Given the description of an element on the screen output the (x, y) to click on. 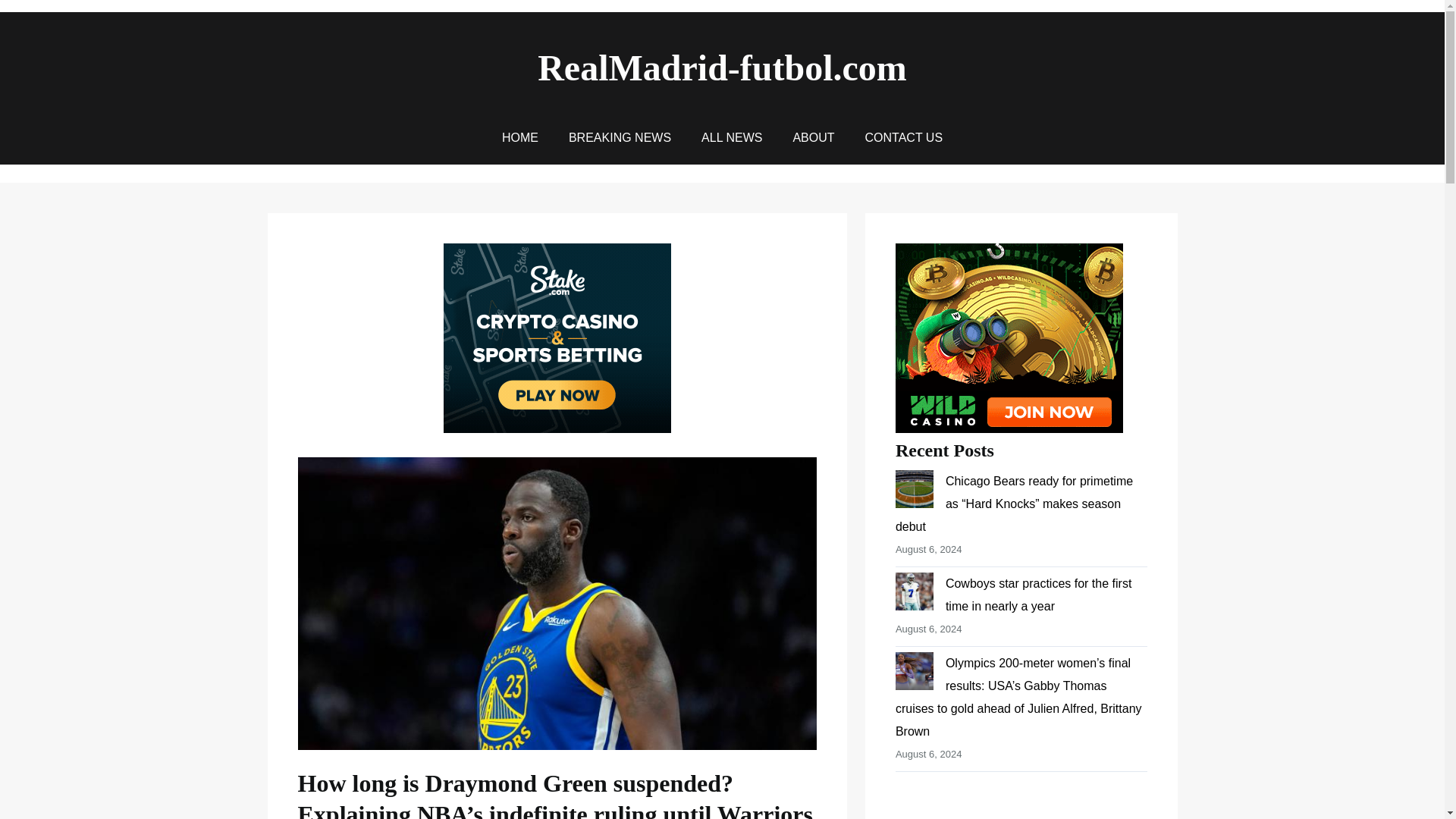
ALL NEWS (731, 137)
Cowboys star practices for the first time in nearly a year (1037, 594)
BREAKING NEWS (620, 137)
HOME (520, 137)
CONTACT US (903, 137)
RealMadrid-futbol.com (722, 67)
ABOUT (813, 137)
